Given the description of an element on the screen output the (x, y) to click on. 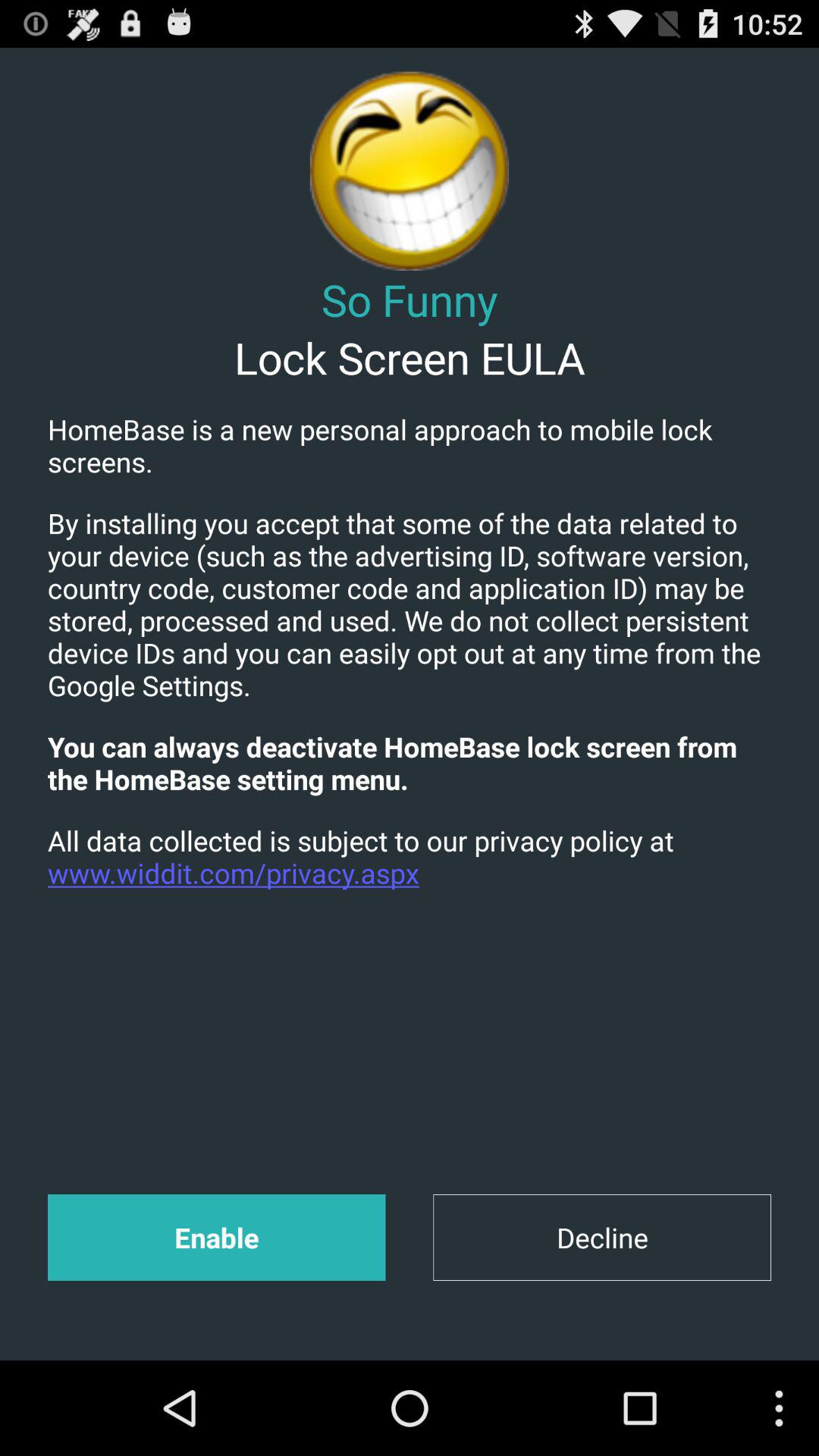
click icon above the by installing you item (409, 445)
